Given the description of an element on the screen output the (x, y) to click on. 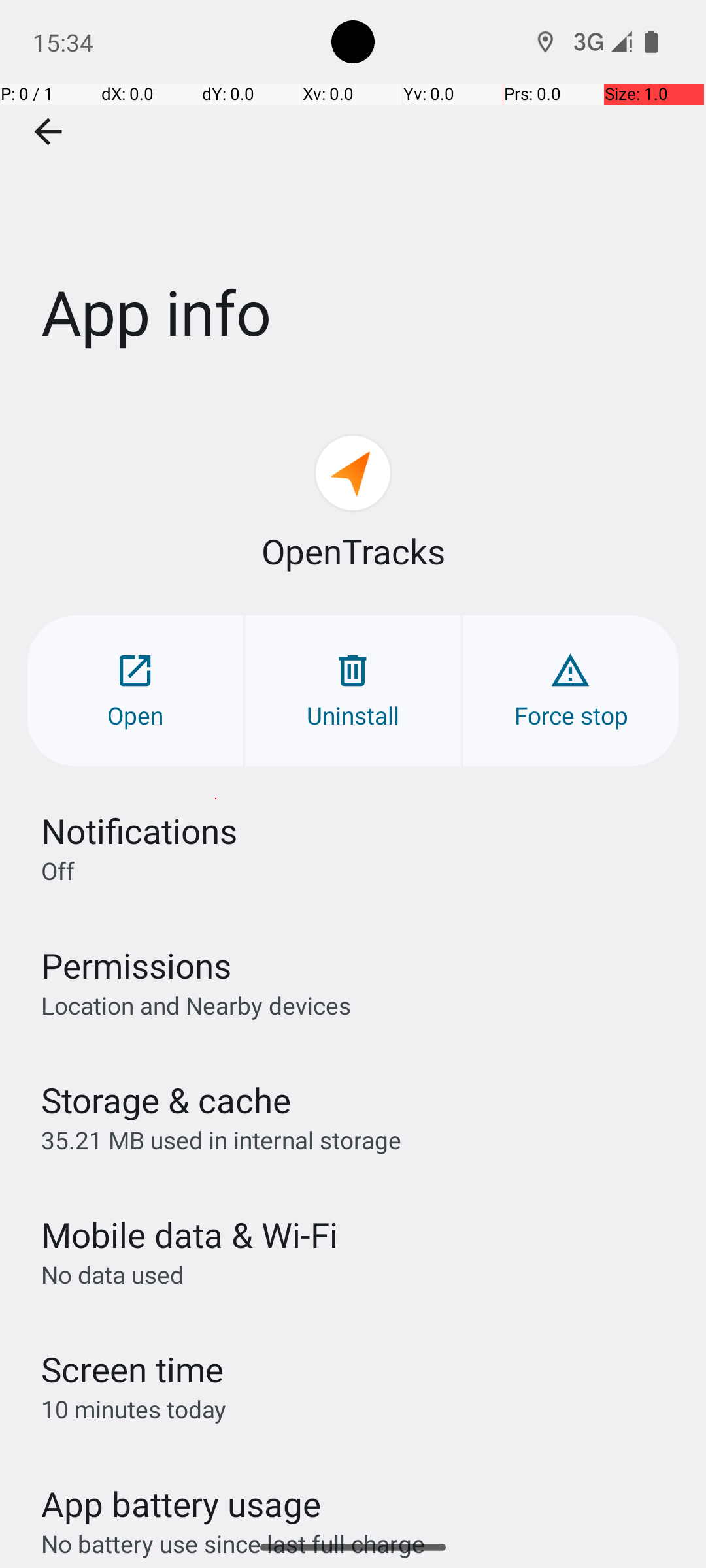
Open Element type: android.widget.Button (135, 690)
Uninstall Element type: android.widget.Button (352, 690)
Force stop Element type: android.widget.Button (570, 690)
Permissions Element type: android.widget.TextView (136, 965)
Location and Nearby devices Element type: android.widget.TextView (196, 1004)
Storage & cache Element type: android.widget.TextView (166, 1099)
35.21 MB used in internal storage Element type: android.widget.TextView (221, 1139)
No data used Element type: android.widget.TextView (112, 1273)
10 minutes today Element type: android.widget.TextView (133, 1408)
App battery usage Element type: android.widget.TextView (181, 1503)
